Given the description of an element on the screen output the (x, y) to click on. 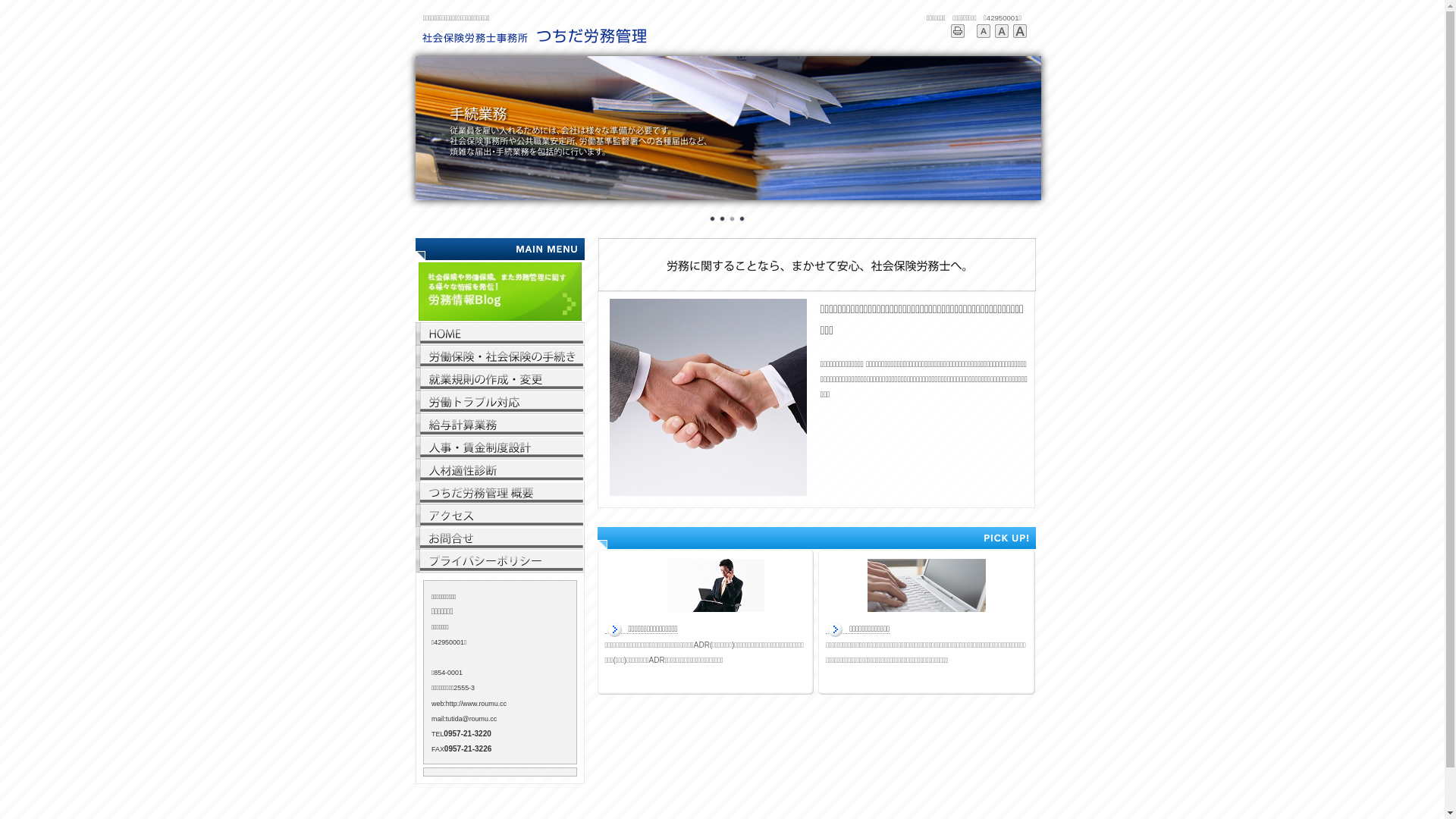
4 Element type: text (742, 218)
1 Element type: text (711, 218)
2 Element type: text (722, 218)
3 Element type: text (731, 218)
